Given the description of an element on the screen output the (x, y) to click on. 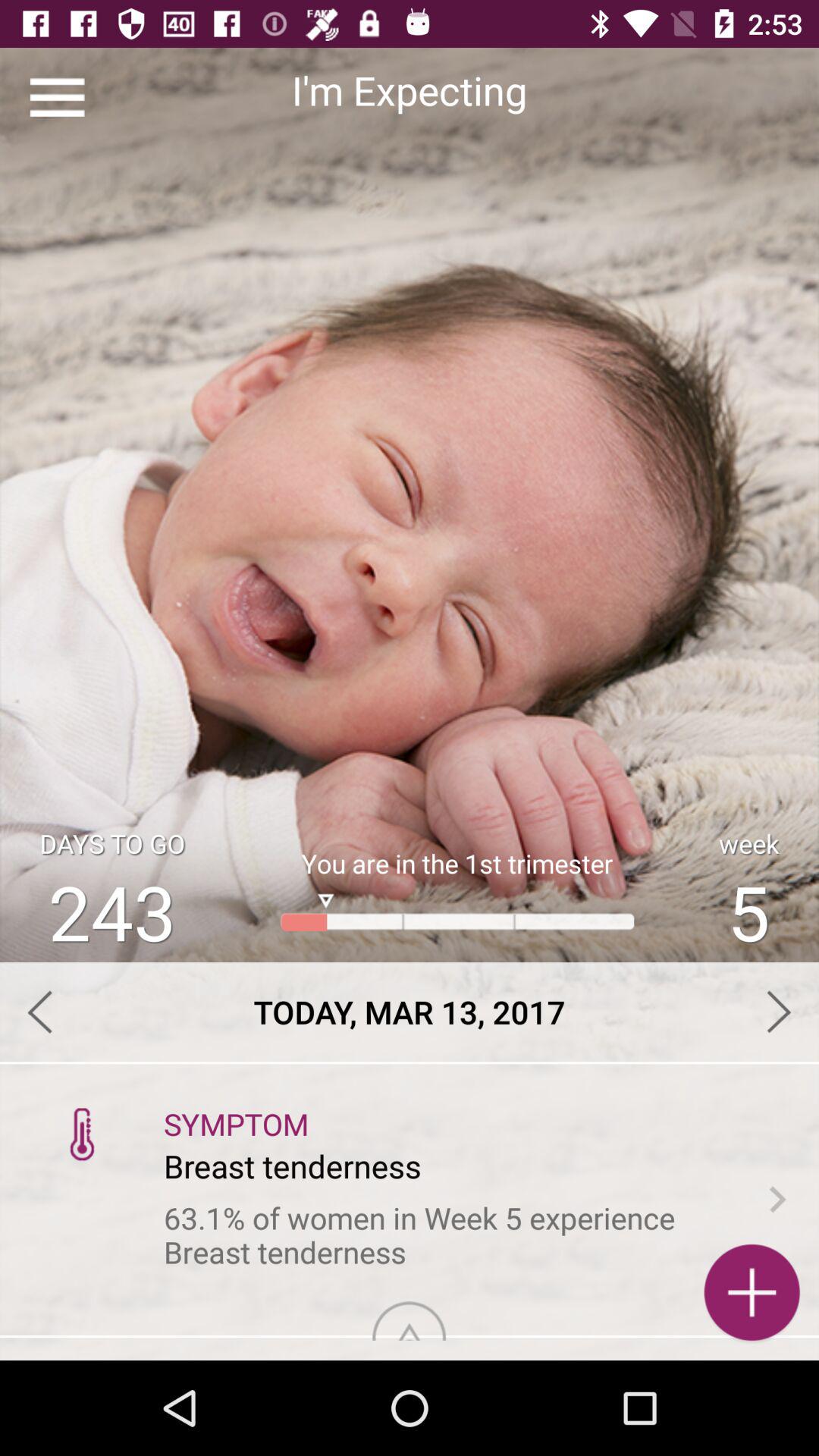
open the item below the 243 (409, 1011)
